Given the description of an element on the screen output the (x, y) to click on. 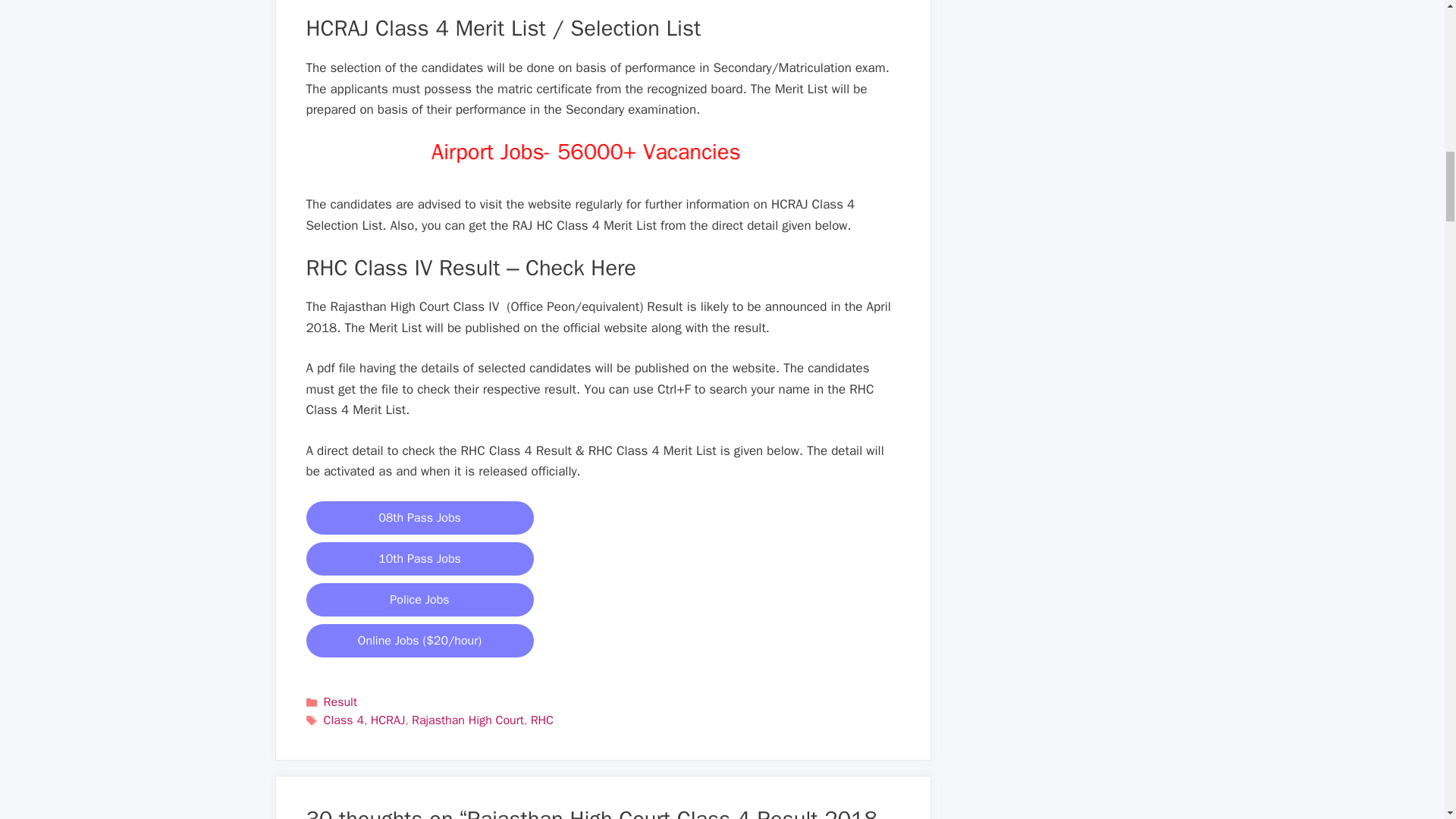
RHC (542, 720)
Police Jobs (419, 599)
Police Jobs (419, 599)
Result (339, 702)
08th Pass Jobs (419, 517)
08th Pass Jobs (419, 517)
HCRAJ (388, 720)
Rajasthan High Court (468, 720)
10th Pass Jobs (419, 558)
Class 4 (343, 720)
10th Pass Jobs (419, 558)
